Given the description of an element on the screen output the (x, y) to click on. 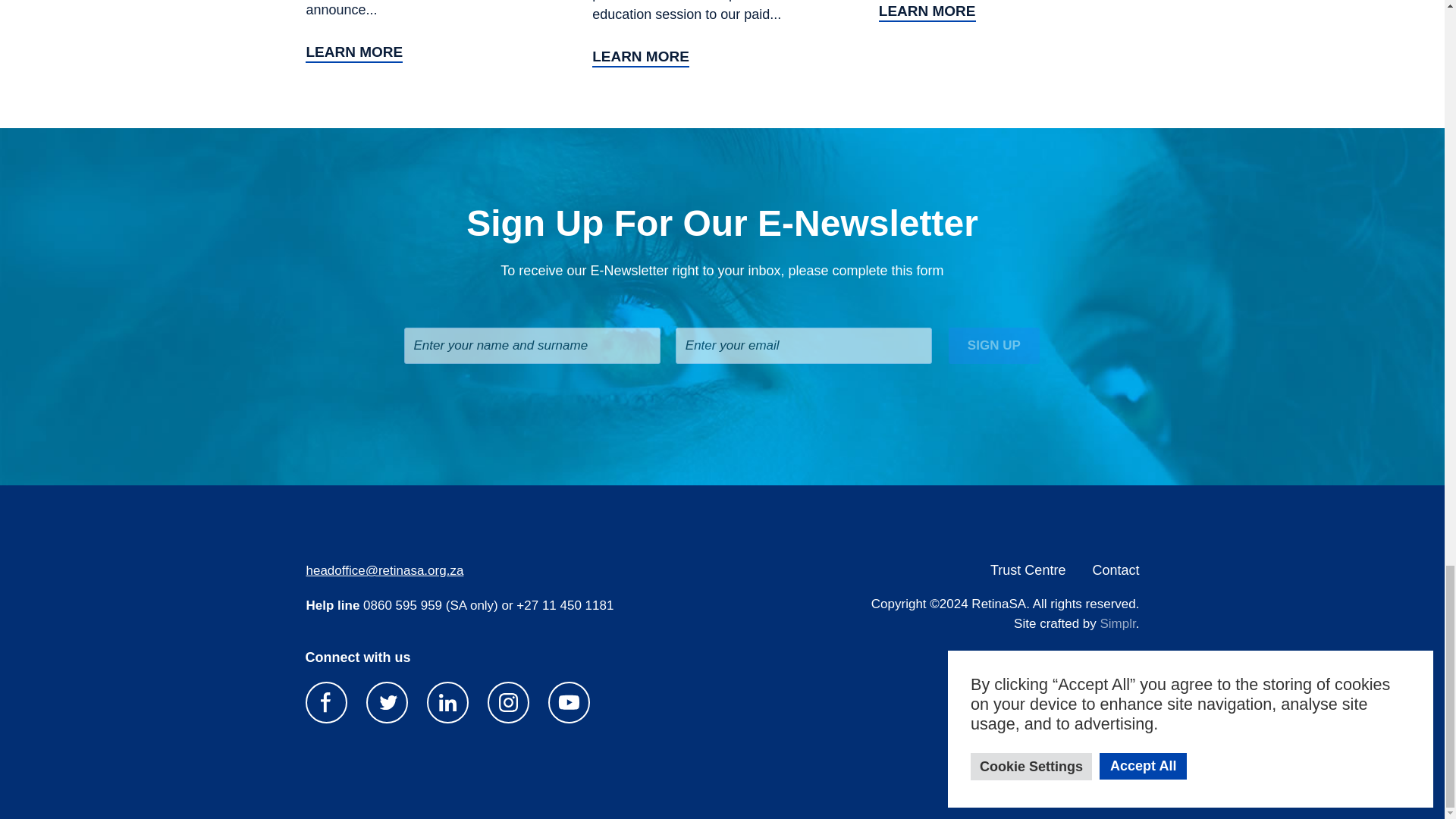
youTube (568, 702)
LinkedIn (447, 702)
Twitter (386, 702)
SIGN UP (994, 345)
Facebook (325, 702)
Instagram (508, 702)
